Given the description of an element on the screen output the (x, y) to click on. 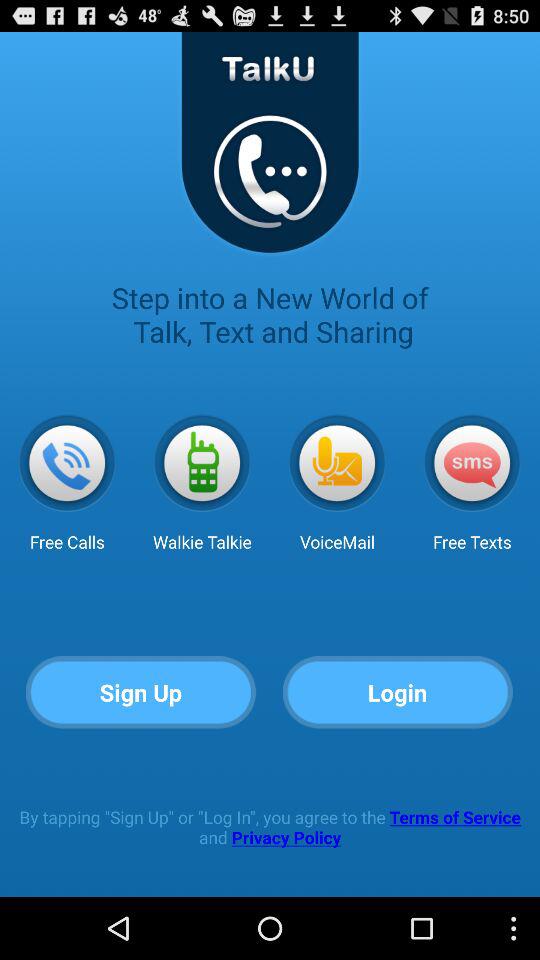
choose the by tapping sign icon (269, 826)
